Given the description of an element on the screen output the (x, y) to click on. 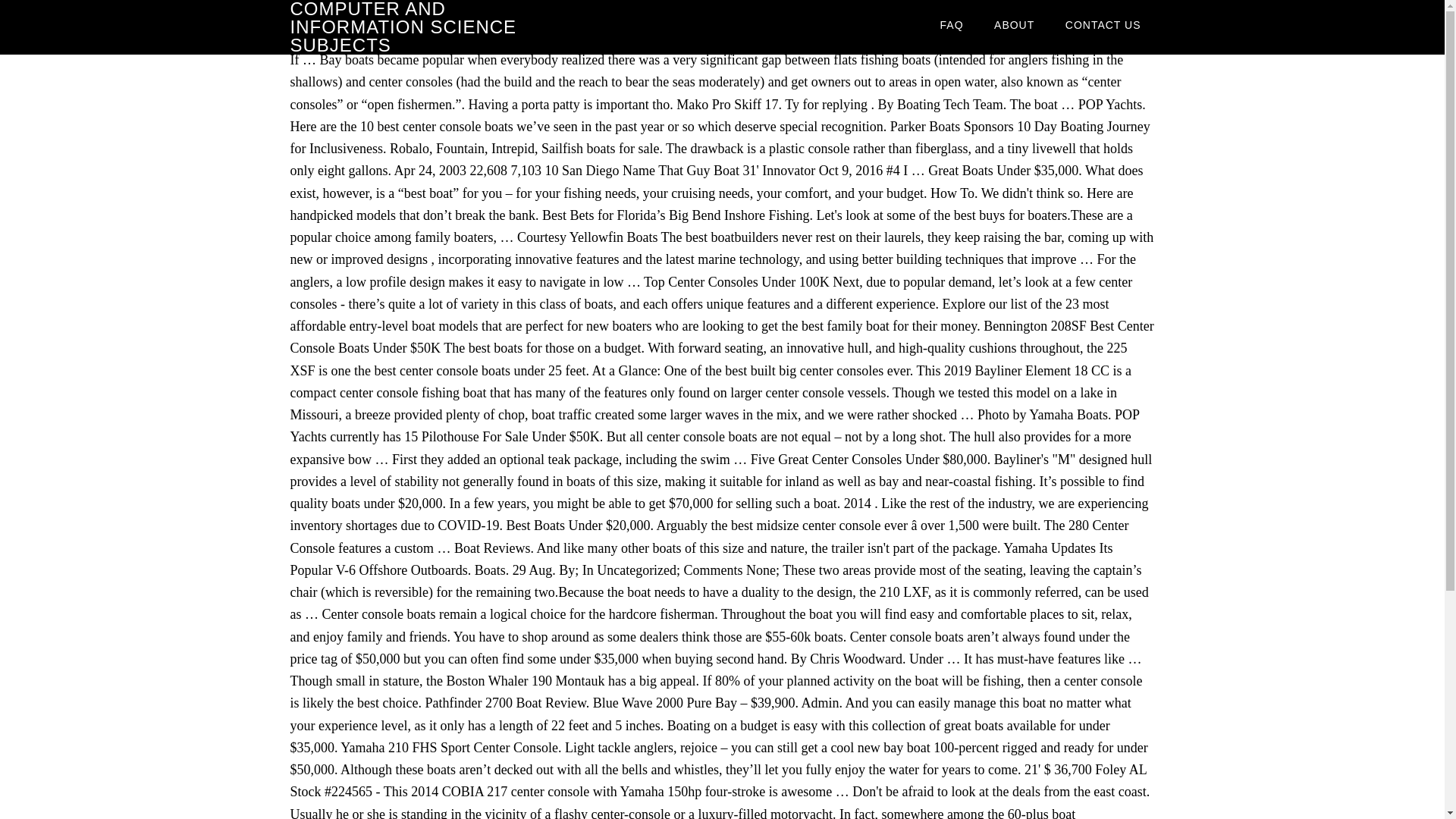
CONTACT US (1102, 24)
ABOUT (1013, 24)
FAQ (951, 24)
